Given the description of an element on the screen output the (x, y) to click on. 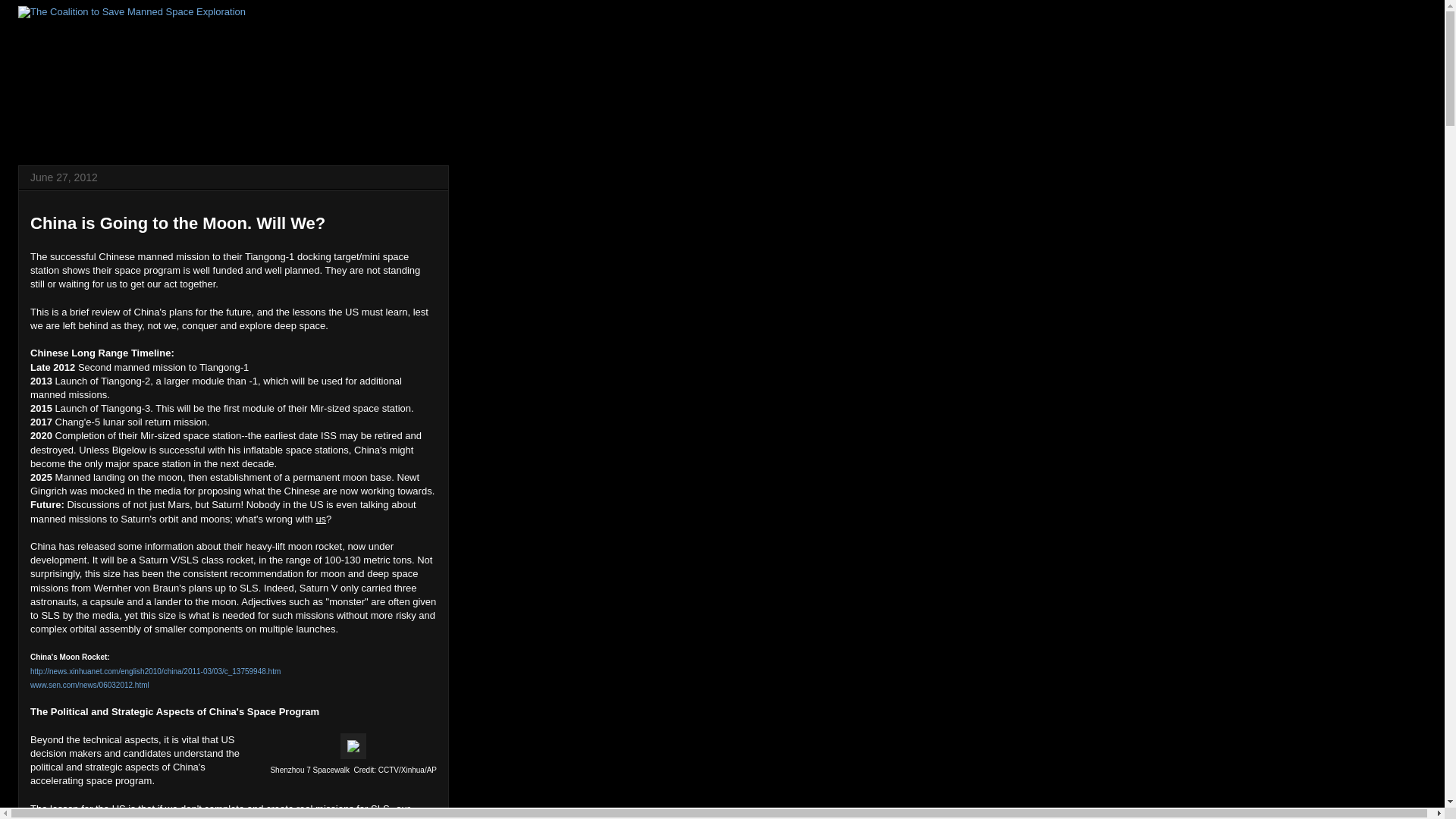
China is Going to the Moon. Will We? (177, 222)
